Given the description of an element on the screen output the (x, y) to click on. 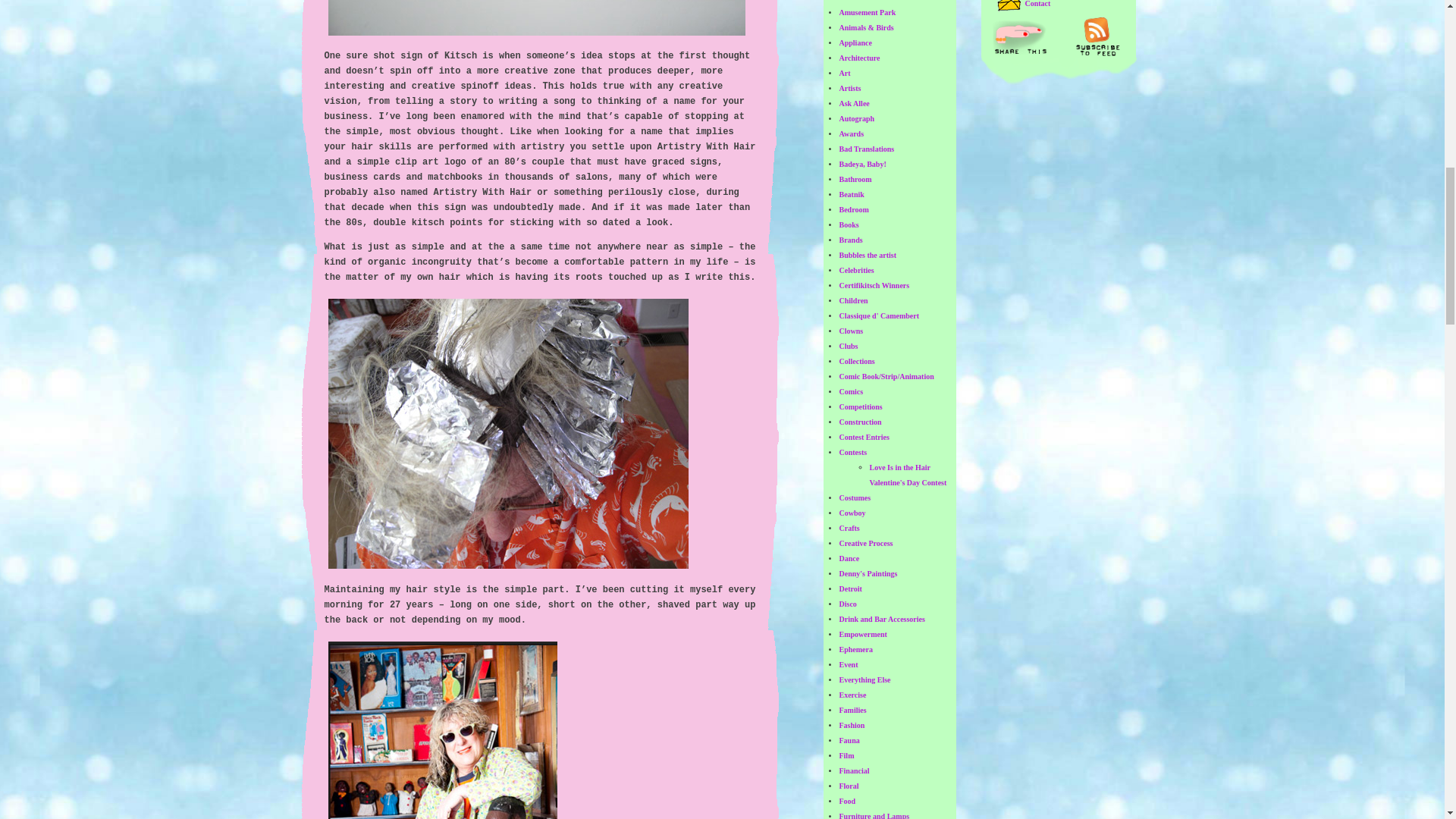
Subscribe using any feed reader! (1097, 36)
aw w statue37 (443, 730)
Artistry-with-hair-sign (537, 18)
